Given the description of an element on the screen output the (x, y) to click on. 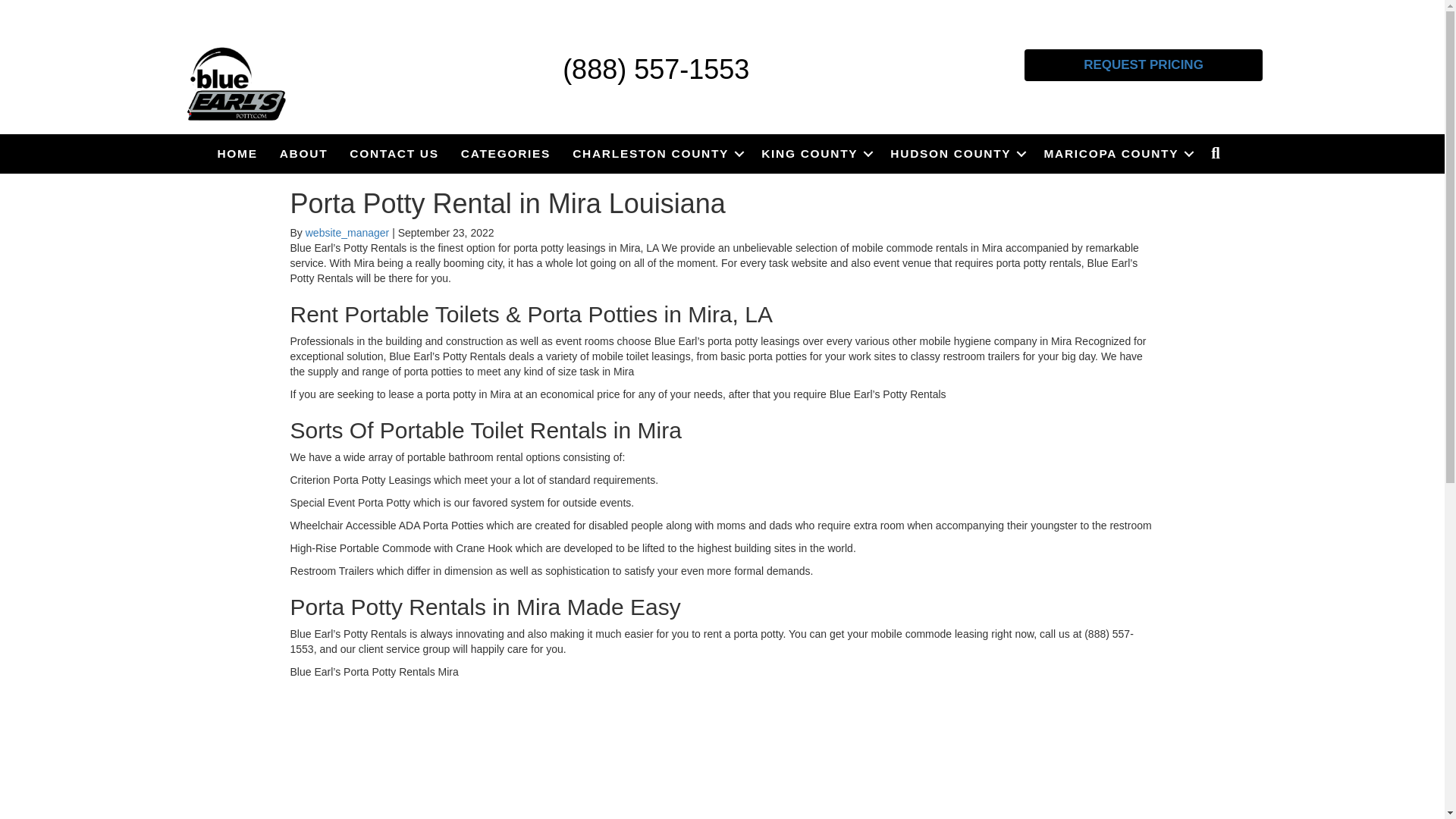
KING COUNTY (815, 153)
Skip to content (34, 6)
HOME (236, 153)
CONTACT US (393, 153)
CATEGORIES (504, 153)
HUDSON COUNTY (955, 153)
CHARLESTON COUNTY (655, 153)
ABOUT (304, 153)
REQUEST PRICING (1144, 65)
blueearlspotty (237, 83)
